Given the description of an element on the screen output the (x, y) to click on. 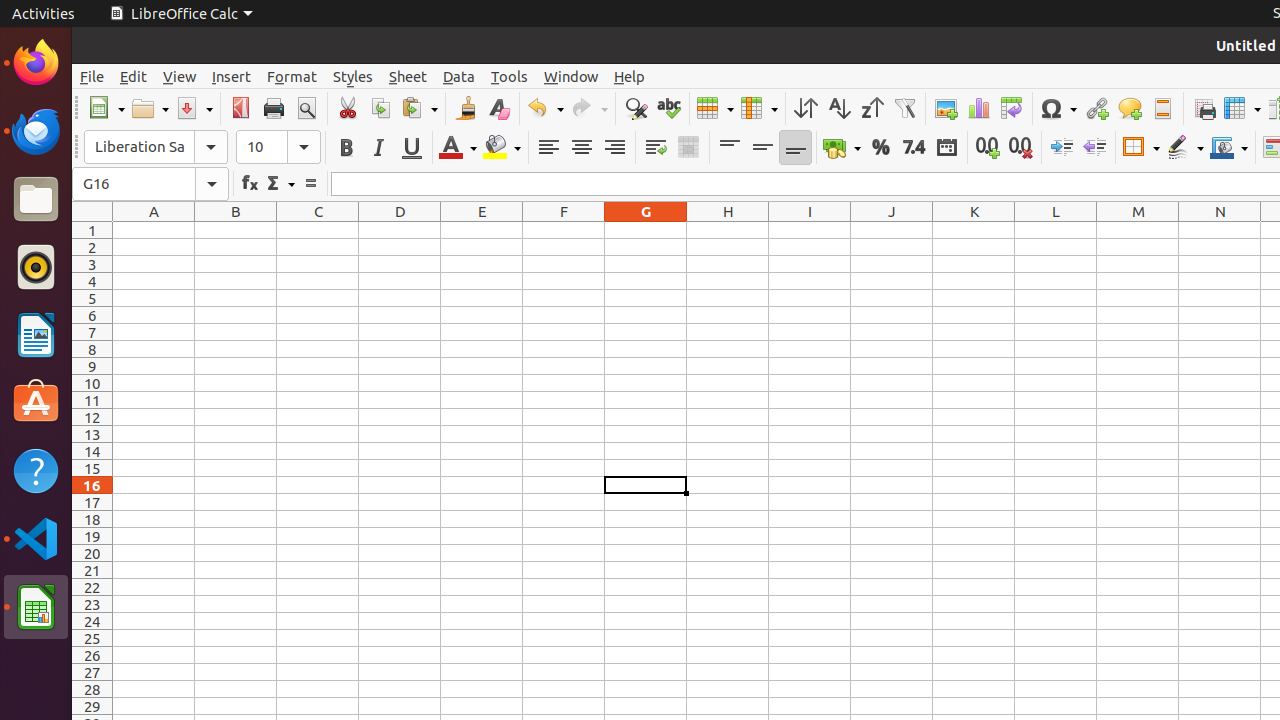
File Element type: menu (92, 76)
B1 Element type: table-cell (236, 230)
J1 Element type: table-cell (892, 230)
LibreOffice Writer Element type: push-button (36, 334)
Save Element type: push-button (194, 108)
